Given the description of an element on the screen output the (x, y) to click on. 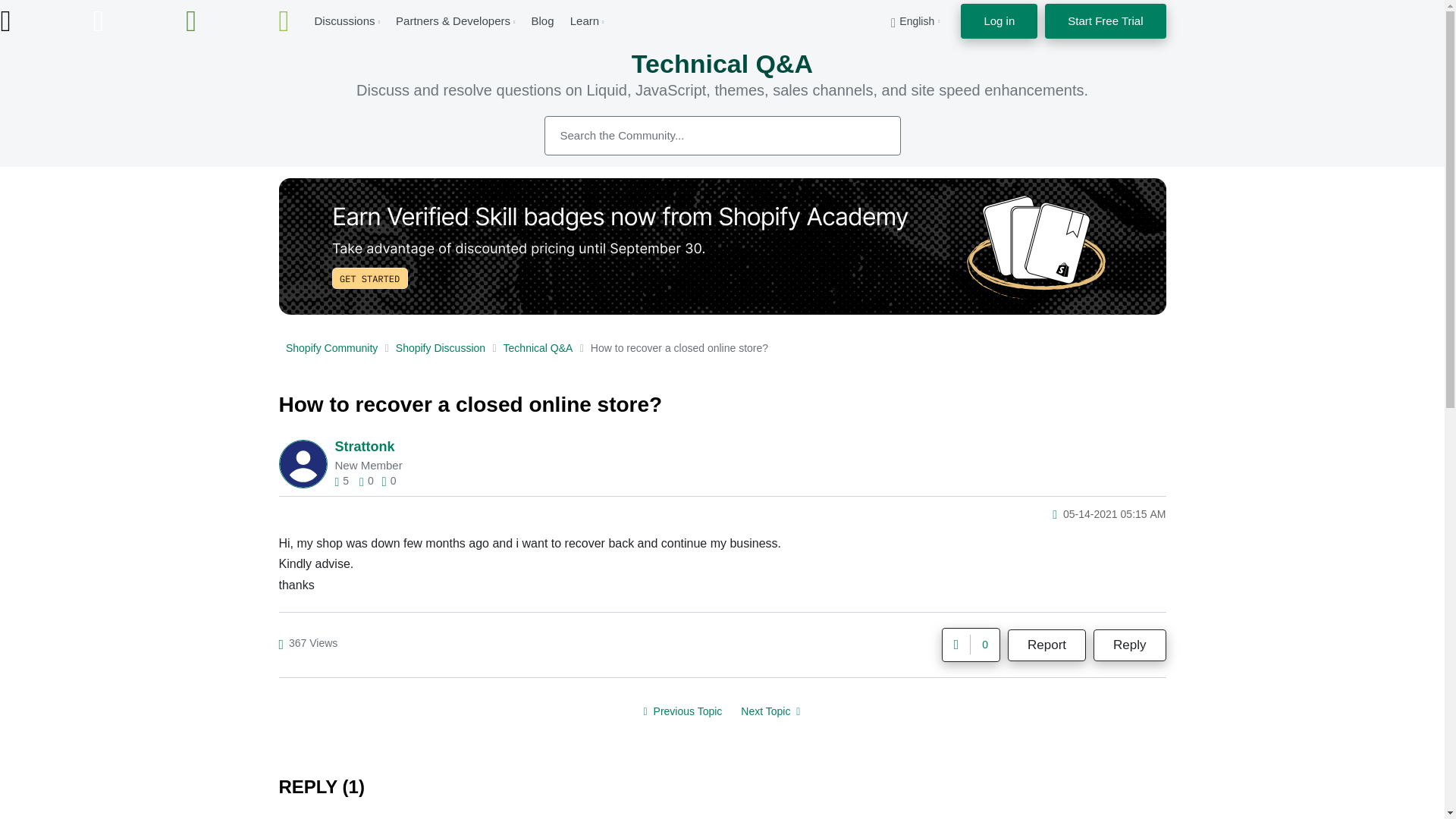
Discussions (344, 20)
Search (722, 135)
Search (872, 135)
Search (872, 135)
